Given the description of an element on the screen output the (x, y) to click on. 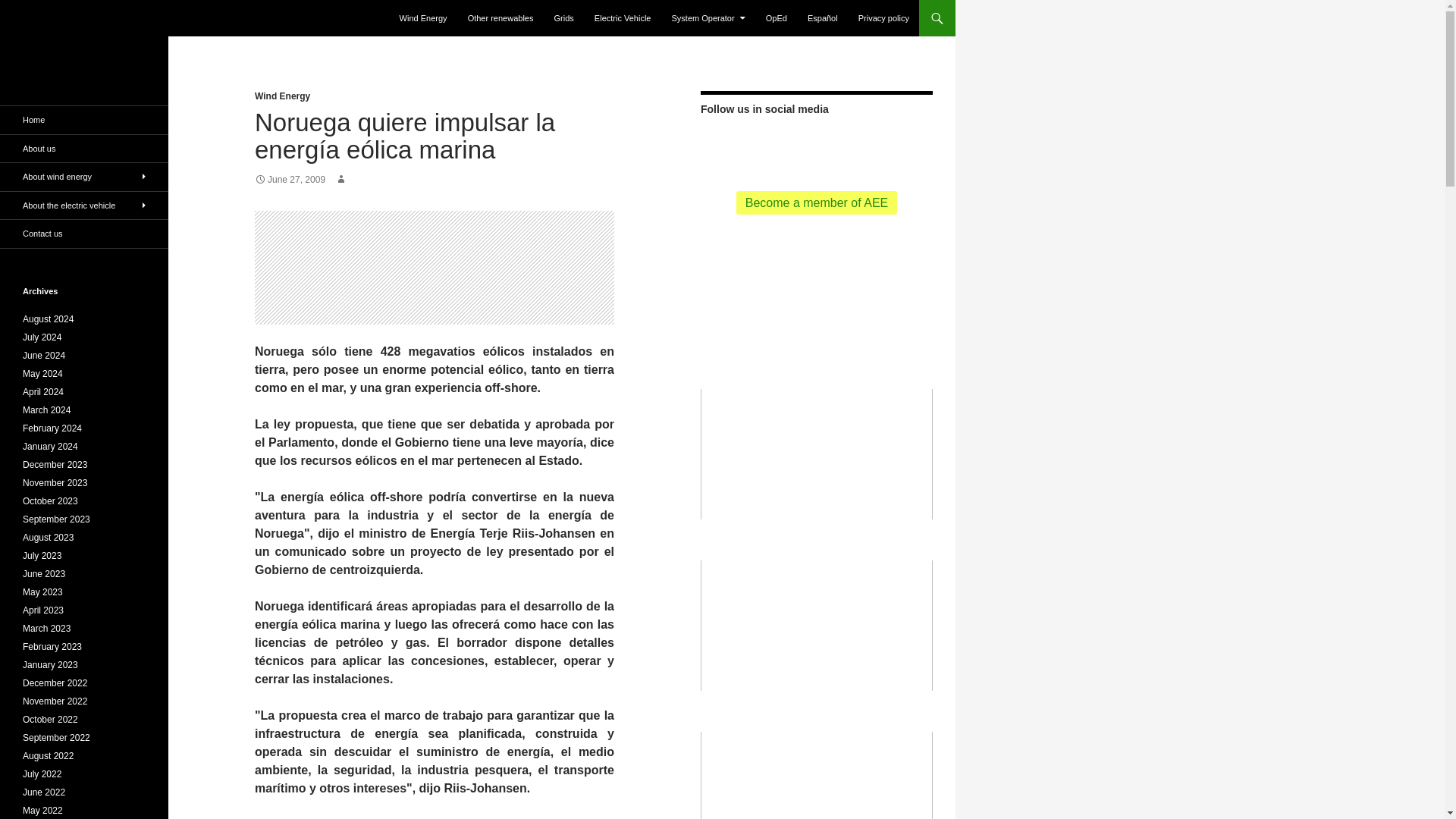
Electric Vehicle (623, 18)
facebook (816, 144)
flickr (871, 144)
June 27, 2009 (289, 179)
twitter (789, 145)
Wind Energy (282, 95)
Other renewables (500, 18)
twitter (789, 144)
youtube (843, 145)
System Operator (708, 18)
